Given the description of an element on the screen output the (x, y) to click on. 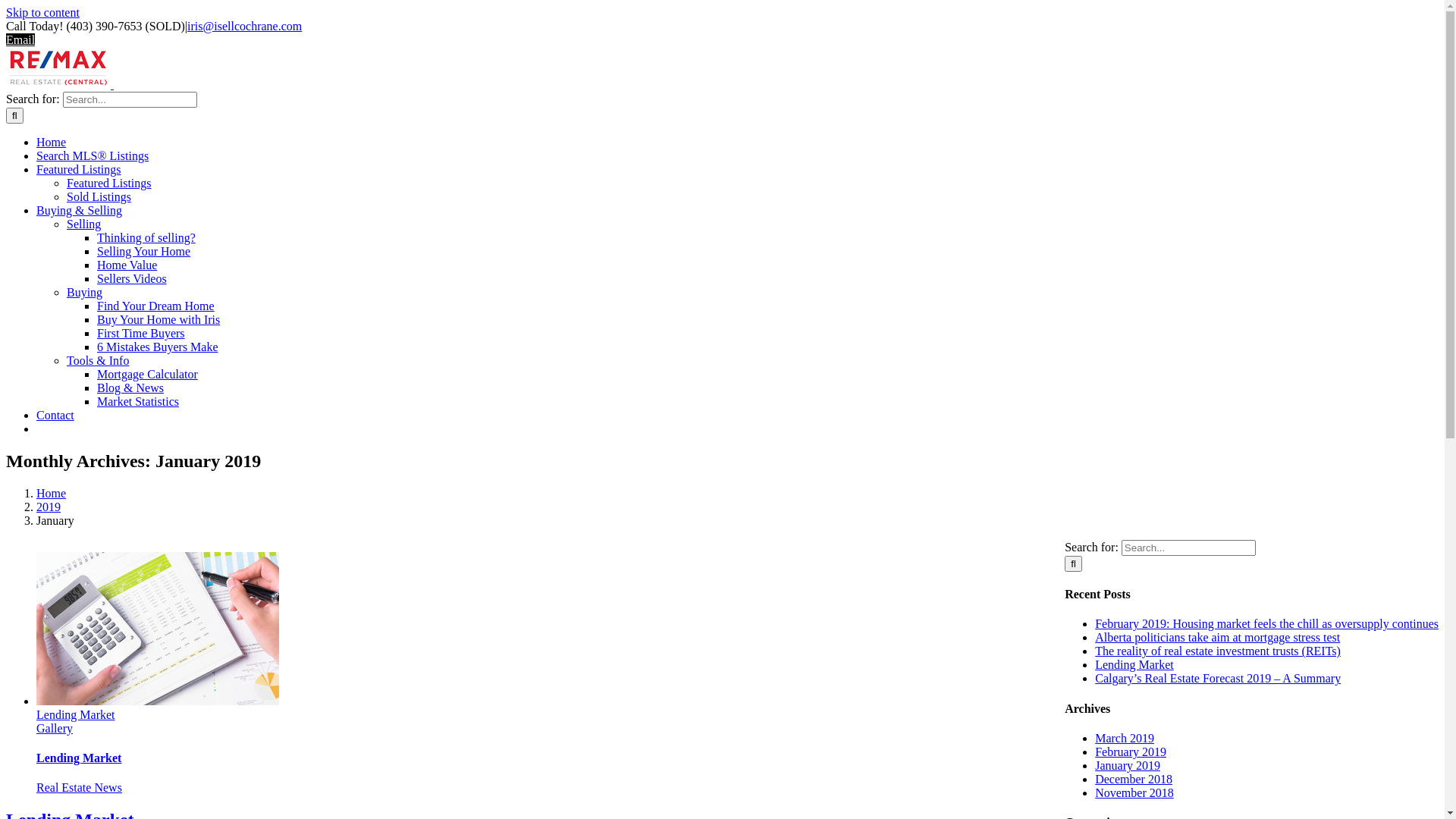
Real Estate News Element type: text (79, 787)
Home Element type: text (50, 141)
2019 Element type: text (48, 506)
Sellers Videos Element type: text (131, 278)
Market Statistics Element type: text (137, 401)
Home Element type: text (50, 492)
February 2019 Element type: text (1130, 751)
Gallery Element type: text (54, 727)
Tools & Info Element type: text (97, 360)
Find Your Dream Home Element type: text (155, 305)
iris@isellcochrane.com Element type: text (244, 25)
Buy Your Home with Iris Element type: text (158, 319)
Featured Listings Element type: text (78, 169)
Selling Your Home Element type: text (143, 250)
Blog & News Element type: text (130, 387)
Home Value Element type: text (126, 264)
Selling Element type: text (83, 223)
December 2018 Element type: text (1133, 778)
Email Element type: text (20, 39)
Lending Market Element type: text (75, 714)
Alberta politicians take aim at mortgage stress test Element type: text (1217, 636)
Sold Listings Element type: text (98, 196)
Lending Market Element type: text (78, 757)
January 2019 Element type: text (1127, 765)
March 2019 Element type: text (1124, 737)
Mortgage Calculator Element type: text (147, 373)
Contact Element type: text (55, 414)
The reality of real estate investment trusts (REITs) Element type: text (1217, 650)
Buying Element type: text (84, 291)
Thinking of selling? Element type: text (146, 237)
First Time Buyers Element type: text (141, 332)
6 Mistakes Buyers Make Element type: text (157, 346)
Featured Listings Element type: text (108, 182)
November 2018 Element type: text (1134, 792)
Skip to content Element type: text (42, 12)
Buying & Selling Element type: text (79, 209)
Lending Market Element type: text (1134, 664)
iris@isellcochrane.com Element type: text (839, 611)
